Given the description of an element on the screen output the (x, y) to click on. 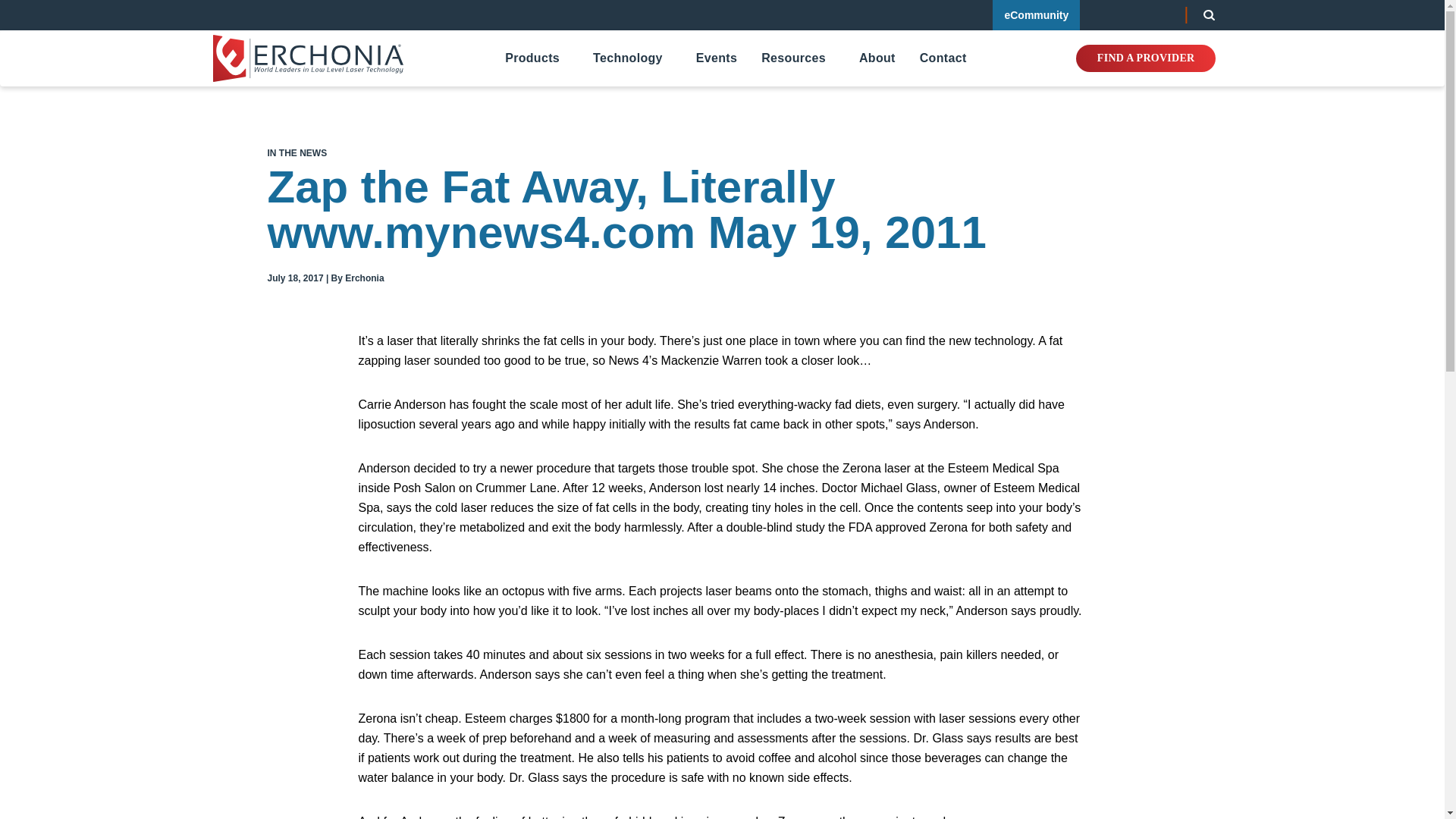
Technology (627, 58)
Resources (793, 58)
Products (532, 58)
About (877, 58)
IN THE NEWS (296, 153)
FIND A PROVIDER (1145, 58)
Search (1208, 14)
eCommunity (1036, 15)
Events (715, 58)
Contact (943, 58)
